Given the description of an element on the screen output the (x, y) to click on. 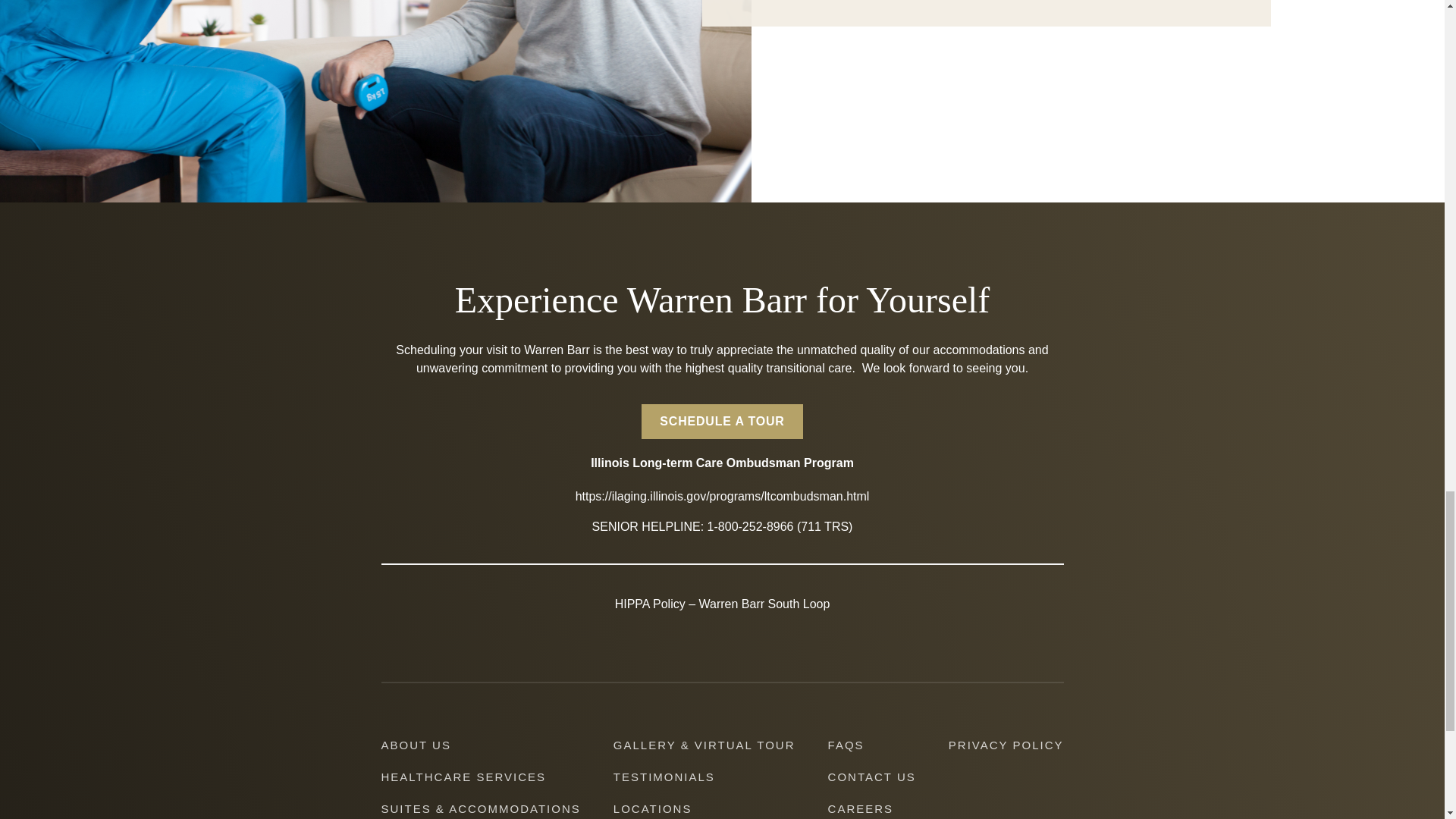
ABOUT US (414, 744)
CONTACT US (871, 776)
LOCATIONS (652, 808)
SCHEDULE A TOUR (722, 421)
PRIVACY POLICY (1006, 744)
FAQS (846, 744)
CAREERS (860, 808)
HEALTHCARE SERVICES (463, 776)
TESTIMONIALS (663, 776)
